Given the description of an element on the screen output the (x, y) to click on. 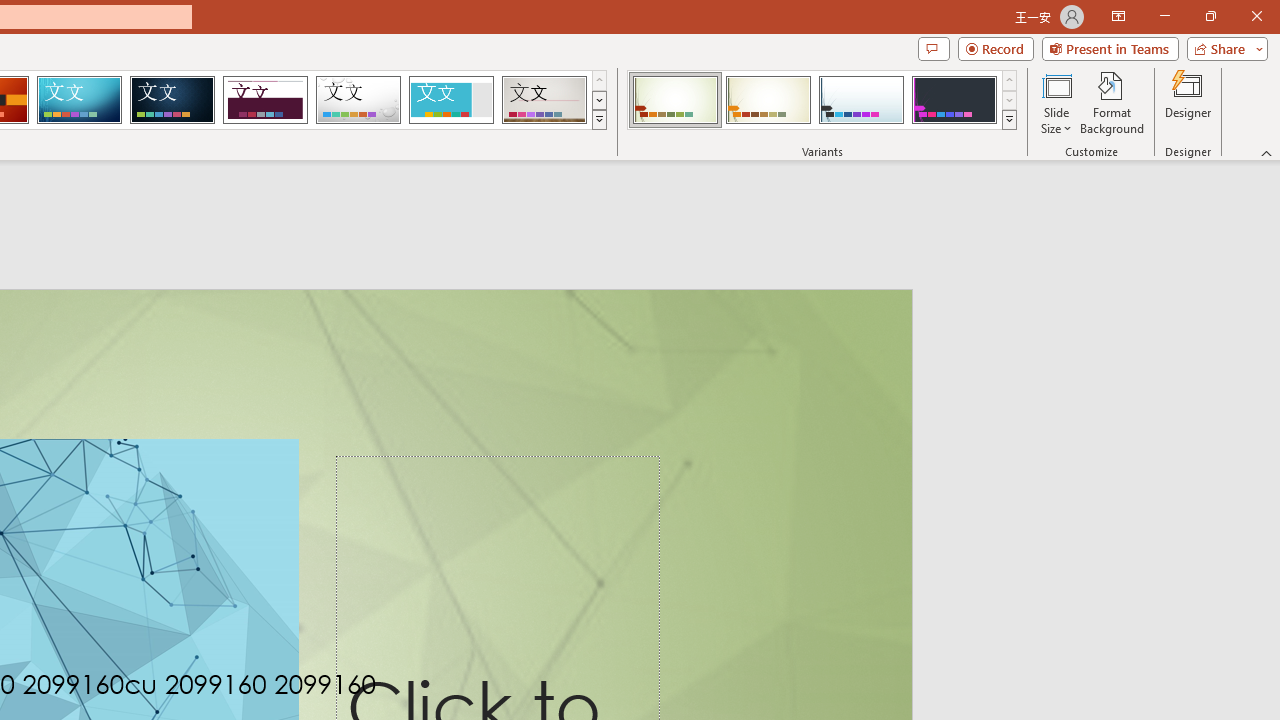
Damask (171, 100)
Wisp Variant 3 (861, 100)
AutomationID: ThemeVariantsGallery (822, 99)
Frame (450, 100)
Gallery (544, 100)
Themes (598, 120)
Format Background (1111, 102)
Wisp Variant 1 (674, 100)
